Given the description of an element on the screen output the (x, y) to click on. 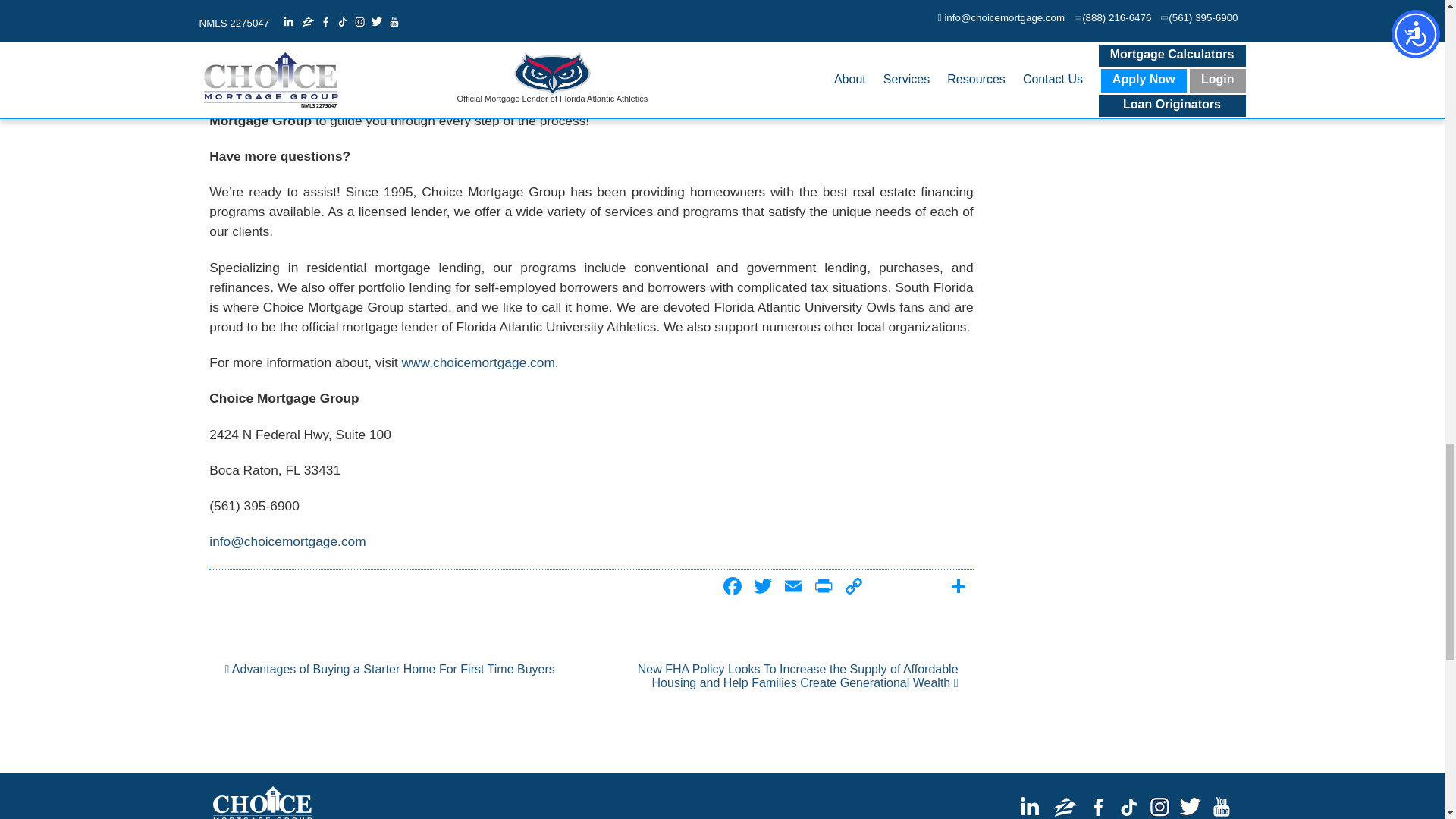
Facebook (732, 587)
Email (792, 587)
Print (823, 587)
www.choicemortgage.com (477, 362)
Twitter (762, 587)
Copy Link (853, 587)
Facebook (732, 587)
Twitter (762, 587)
